Given the description of an element on the screen output the (x, y) to click on. 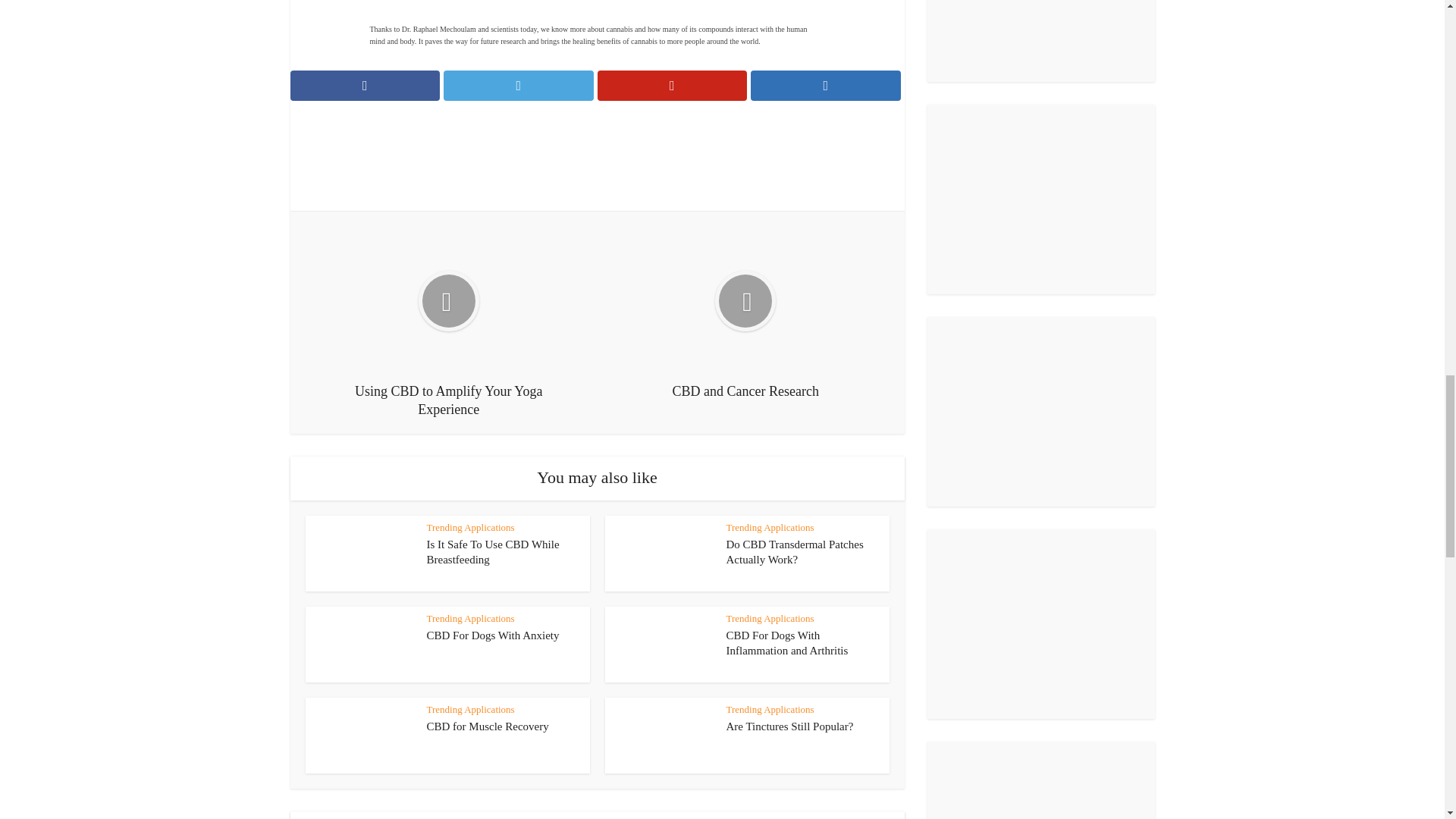
CBD for Muscle Recovery (487, 726)
Is It Safe To Use CBD While Breastfeeding (492, 551)
Do CBD Transdermal Patches Actually Work? (794, 551)
CBD For Dogs With Anxiety (492, 635)
Are Tinctures Still Popular? (789, 726)
CBD For Dogs With Inflammation and Arthritis (787, 642)
